Given the description of an element on the screen output the (x, y) to click on. 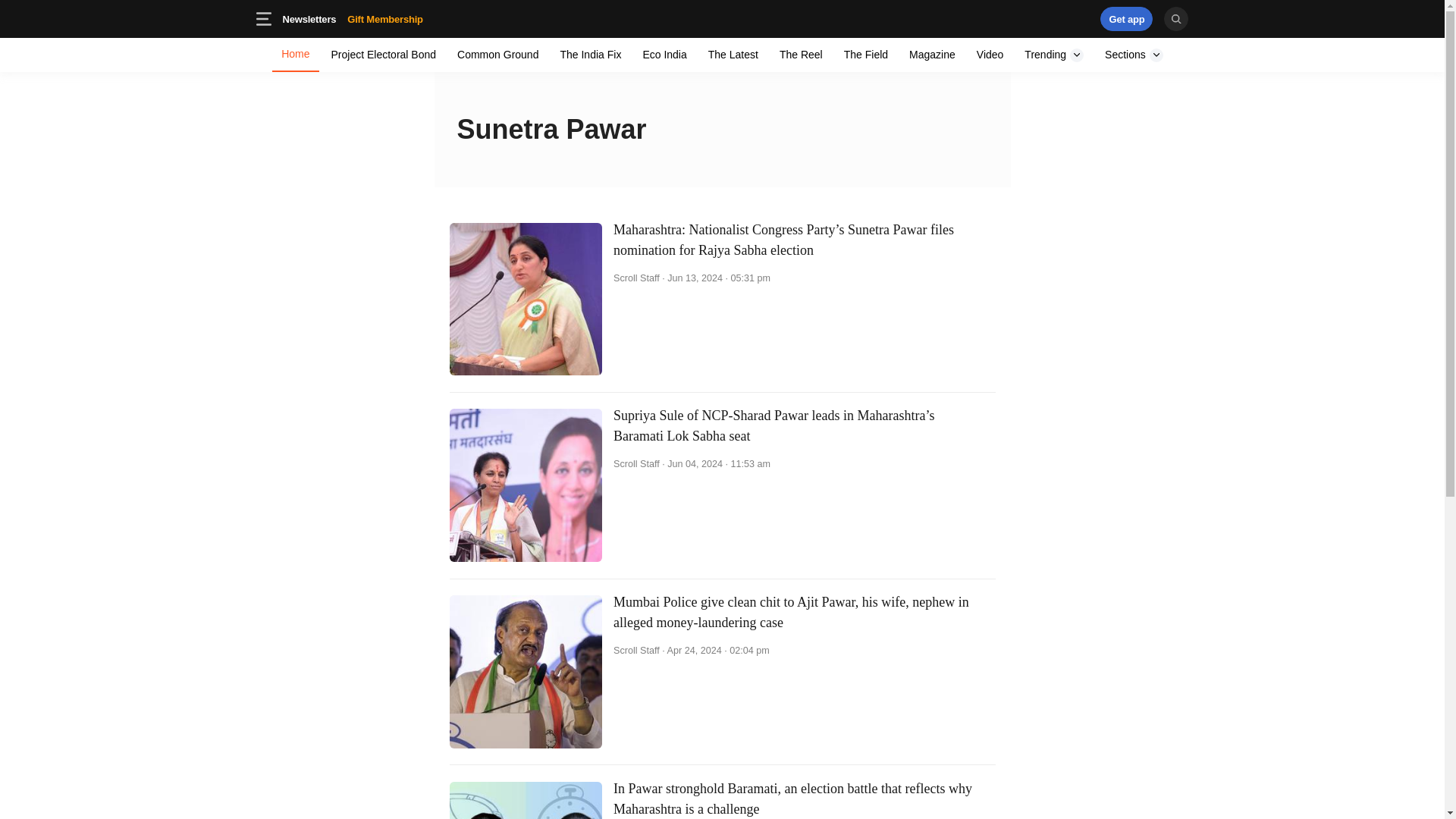
Trending (1053, 54)
The Latest (732, 54)
Magazine (721, 18)
Newsletters (931, 54)
Get app (352, 18)
Home (309, 18)
Video (1126, 18)
Get app (295, 54)
The Field (990, 54)
Eco India (1126, 18)
Common Ground (409, 18)
Get app (865, 54)
